Given the description of an element on the screen output the (x, y) to click on. 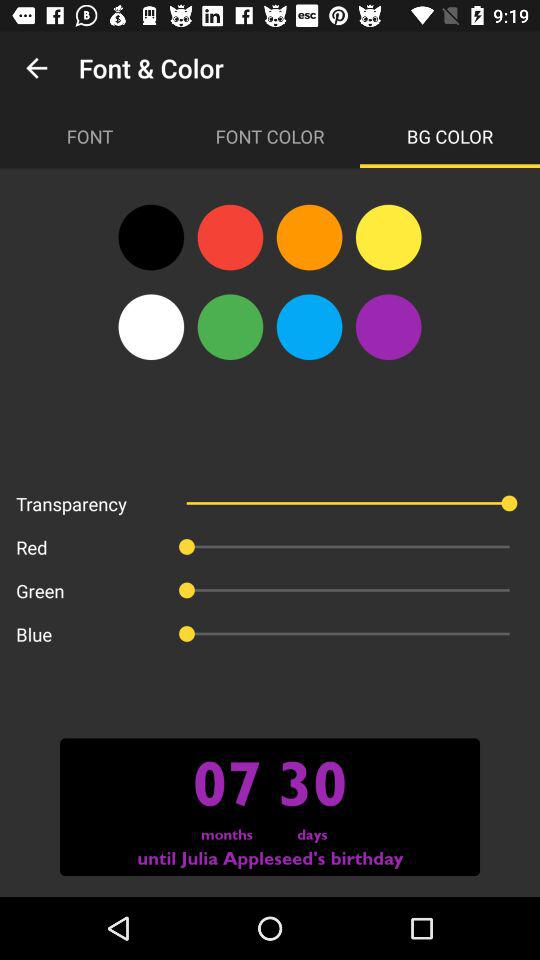
launch the icon below the font color icon (388, 237)
